Given the description of an element on the screen output the (x, y) to click on. 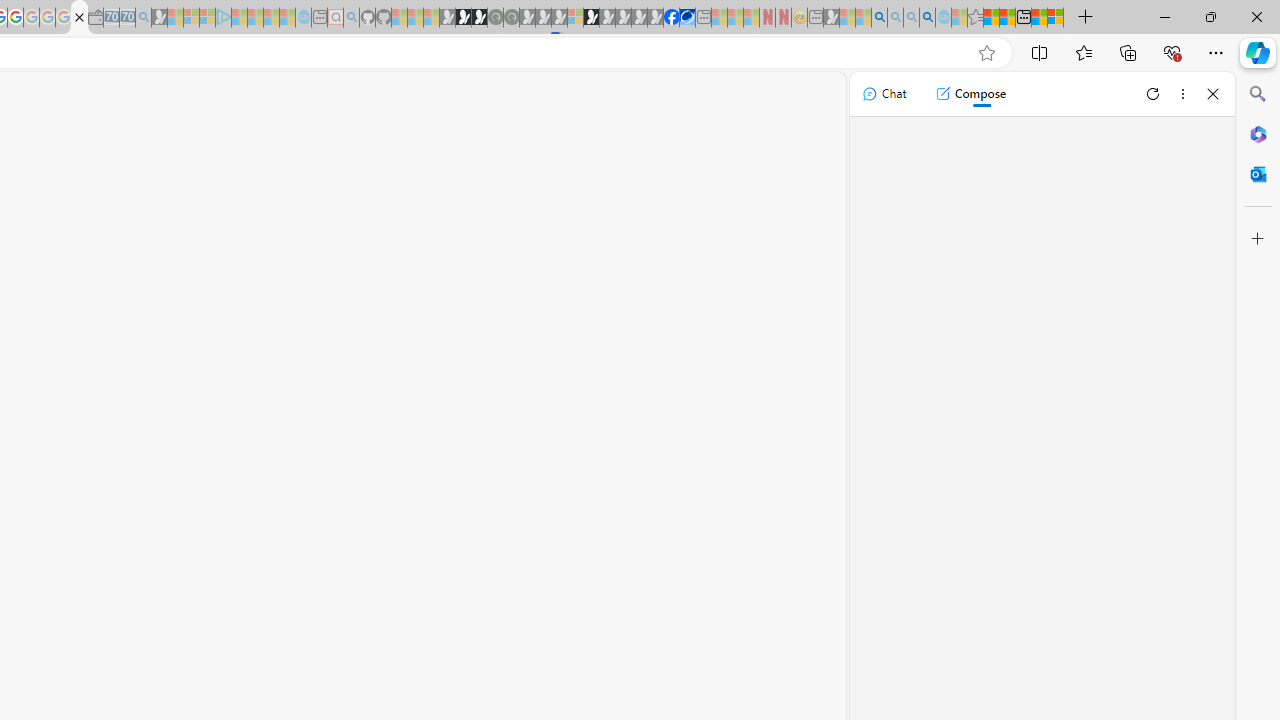
Sign in to your account - Sleeping (575, 17)
AQI & Health | AirNow.gov (687, 17)
Bing Real Estate - Home sales and rental listings - Sleeping (143, 17)
Microsoft Start Gaming - Sleeping (159, 17)
Aberdeen, Hong Kong SAR weather forecast | Microsoft Weather (1007, 17)
